Given the description of an element on the screen output the (x, y) to click on. 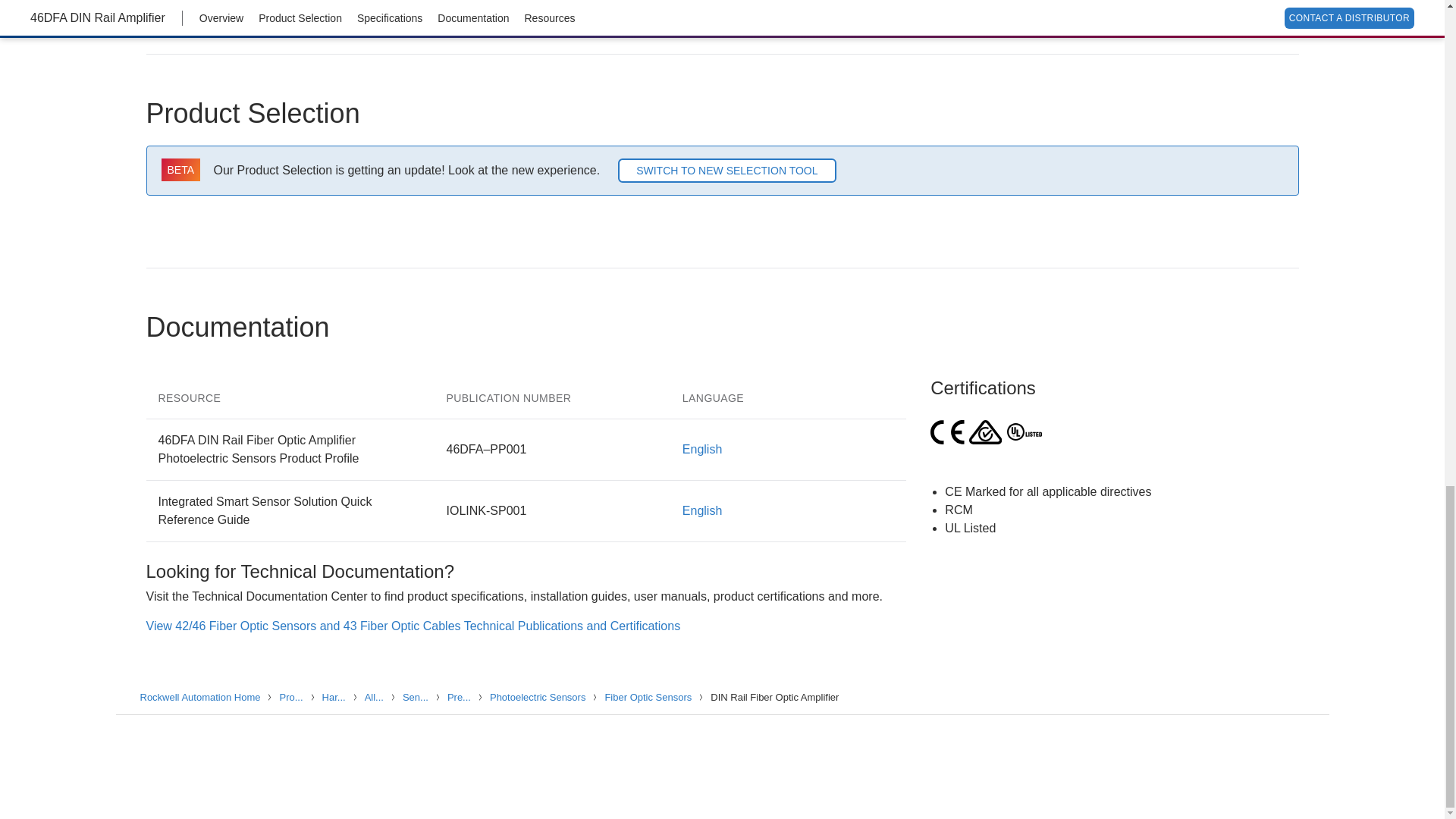
RCM CertificationRCM Certification (985, 432)
Fiber Optic Sensors (649, 696)
English (702, 449)
Get Started (1015, 5)
Photoelectric Sensors (539, 696)
Rockwell Automation Home (201, 696)
SWITCH TO NEW SELECTION TOOL (726, 170)
UL Listed CertificationUL Listed Certification (1024, 431)
English (702, 510)
